Given the description of an element on the screen output the (x, y) to click on. 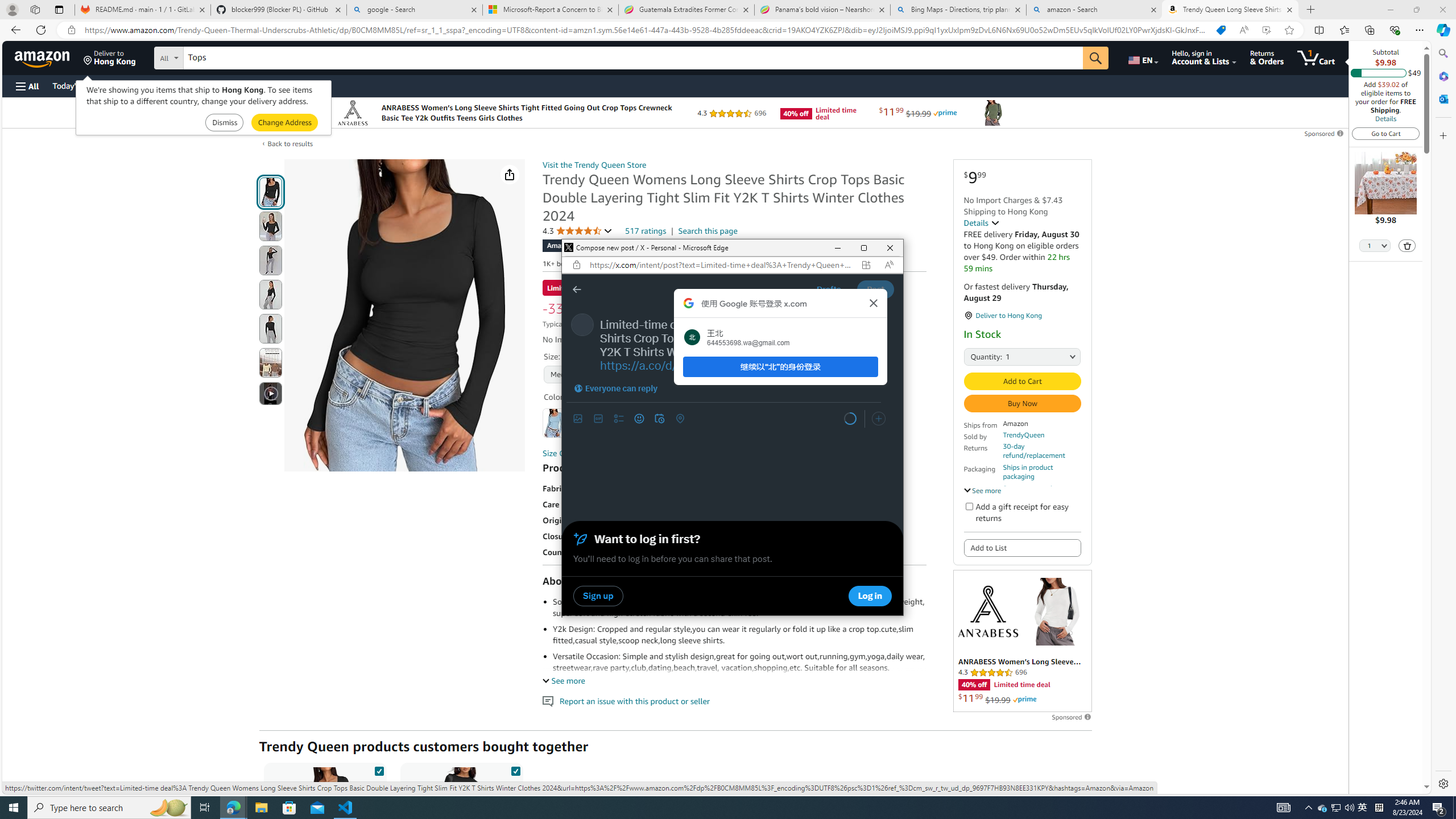
TrendyQueen (1024, 434)
Quantity: (976, 355)
Action Center, 2 new notifications (1439, 807)
User Promoted Notification Area (1336, 807)
Choose a language for shopping. (1335, 807)
Delete (1142, 57)
Open Menu (1407, 245)
Next (26, 86)
30-day refund/replacement (829, 418)
